Given the description of an element on the screen output the (x, y) to click on. 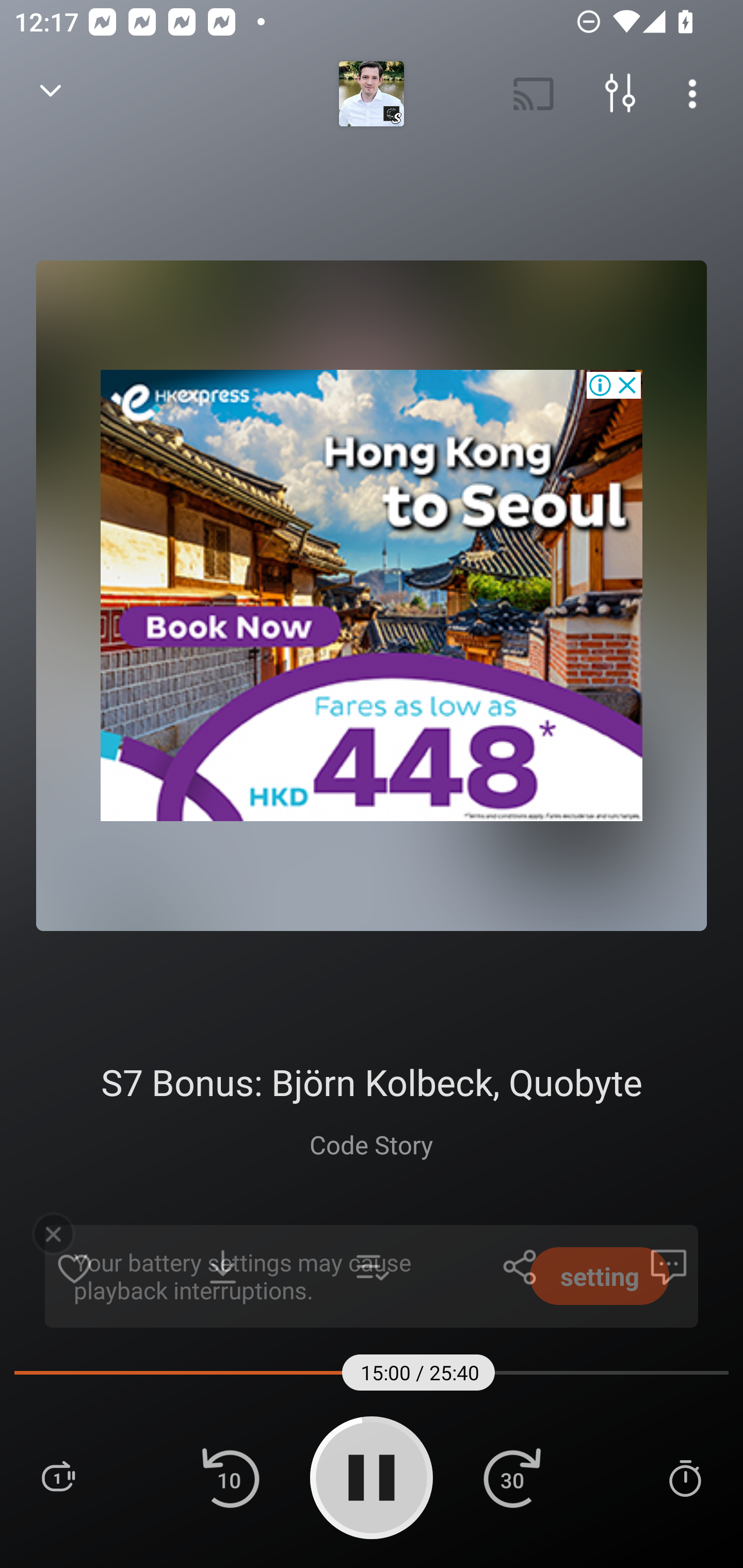
Cast. Disconnected (533, 93)
 Back (50, 94)
Advertisement (371, 595)
S7 Bonus: Björn Kolbeck, Quobyte (370, 1081)
Code Story (370, 1144)
Comments (668, 1266)
Add to Favorites (73, 1266)
Add to playlist (371, 1266)
Share (519, 1266)
 Playlist (57, 1477)
Sleep Timer  (684, 1477)
